Given the description of an element on the screen output the (x, y) to click on. 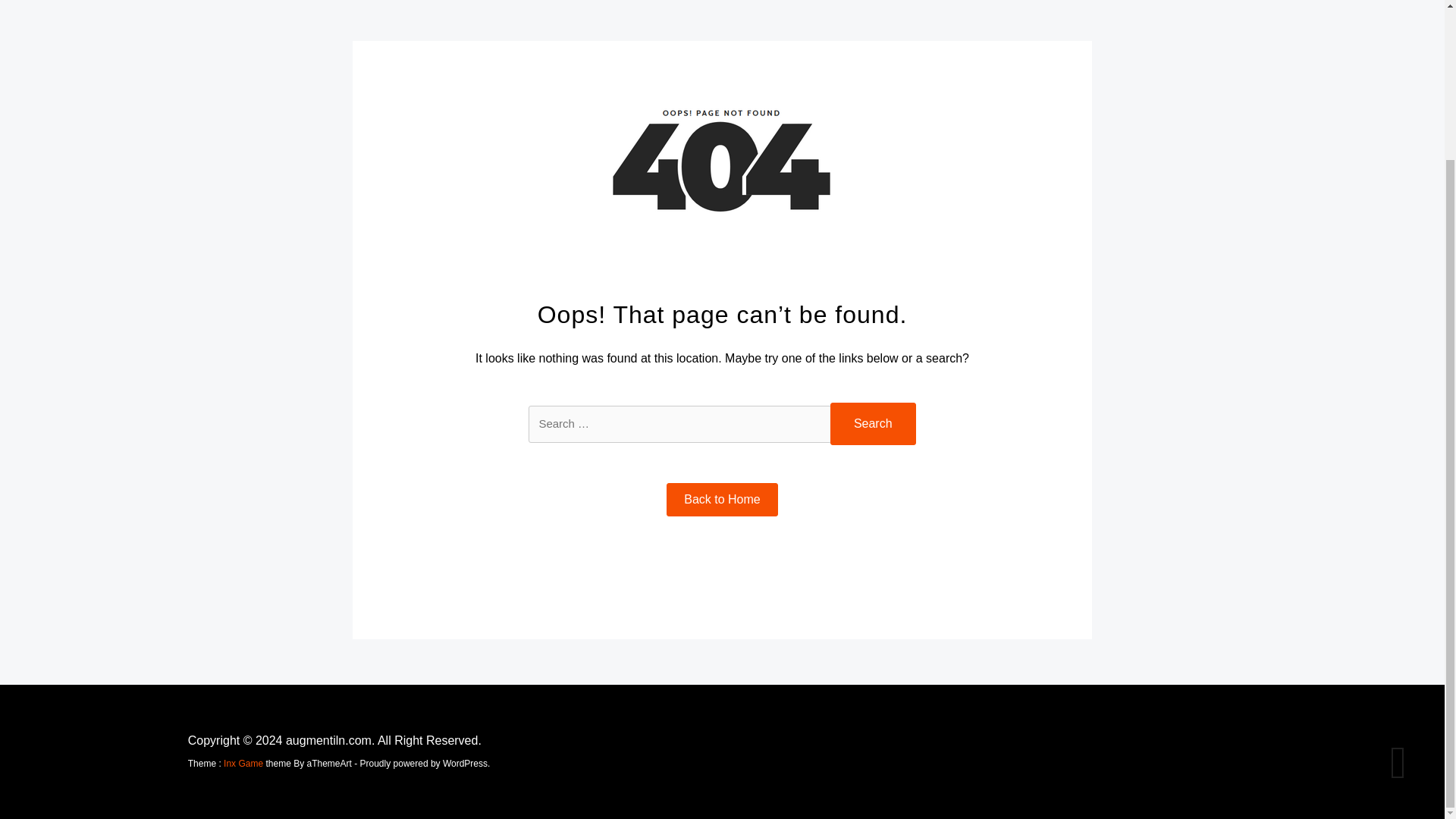
Inx Game (243, 763)
Back to Home (721, 499)
Search (872, 423)
Search (872, 423)
Search (872, 423)
